Given the description of an element on the screen output the (x, y) to click on. 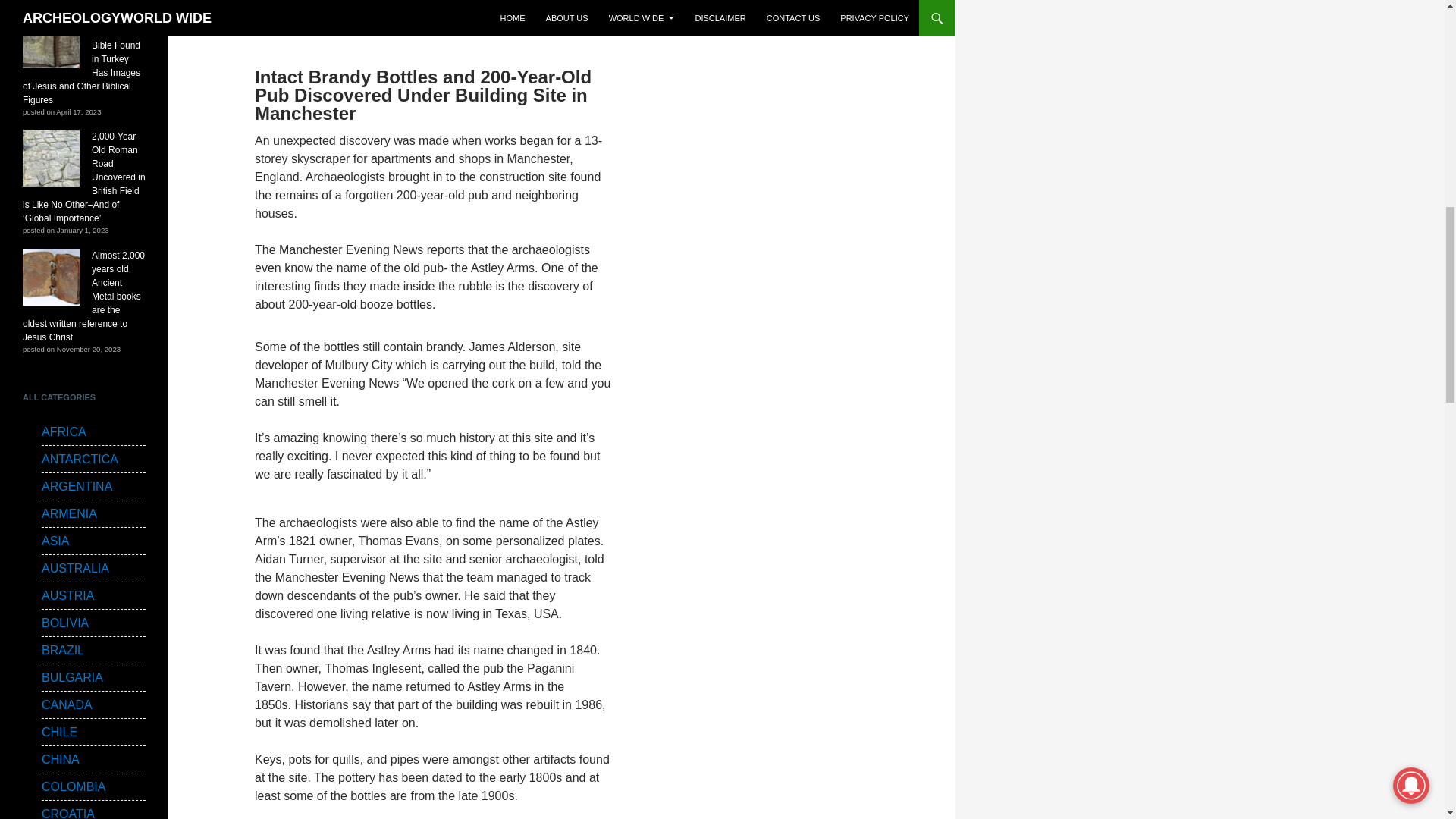
MeWe (417, 10)
Whatsapp (476, 10)
Facebook (269, 10)
Mix (446, 10)
Reddit (328, 10)
Twitter (299, 10)
More (506, 10)
Linkedin (358, 10)
Pinterest (387, 10)
